Given the description of an element on the screen output the (x, y) to click on. 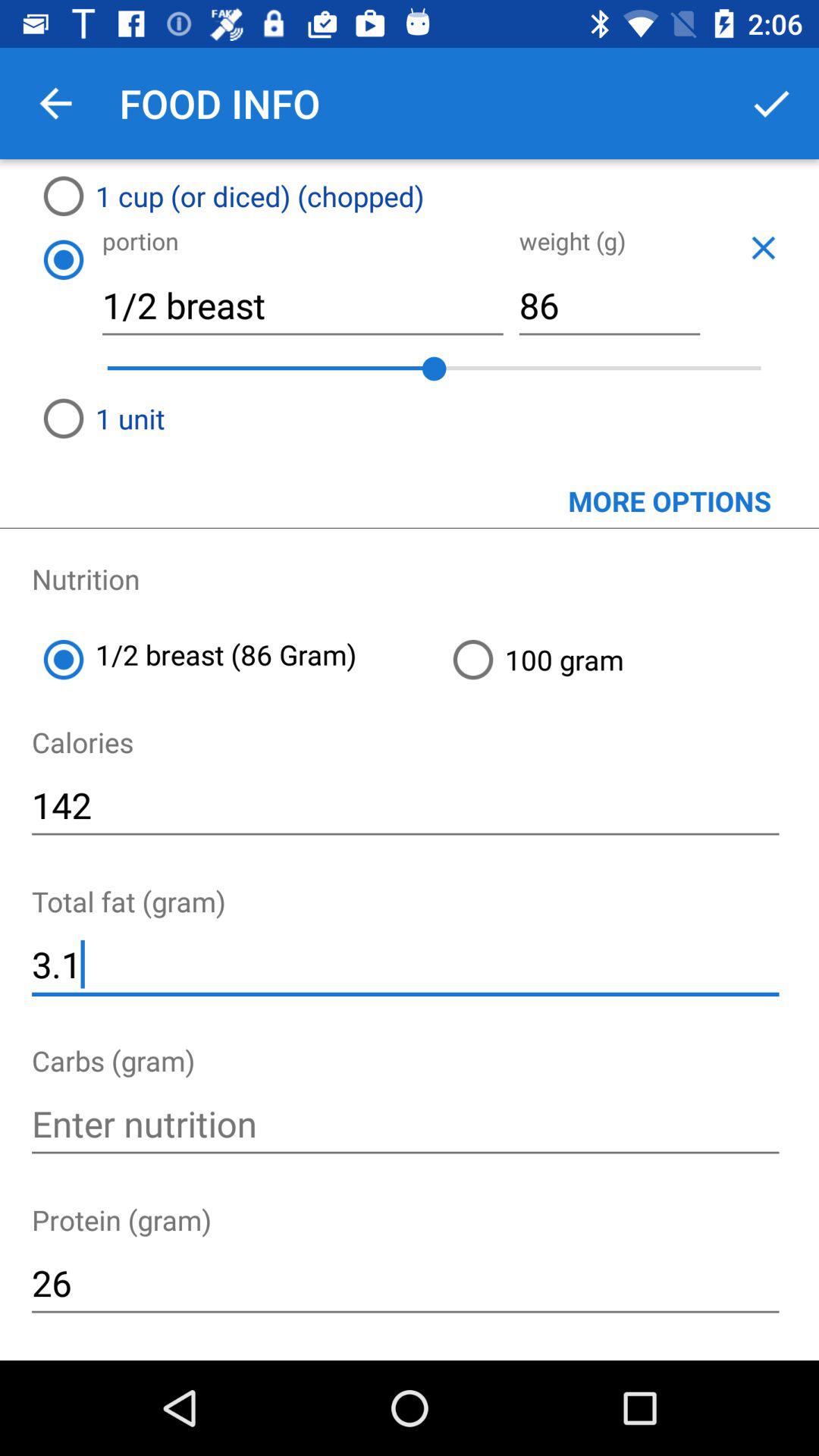
portion radio button (62, 259)
